Given the description of an element on the screen output the (x, y) to click on. 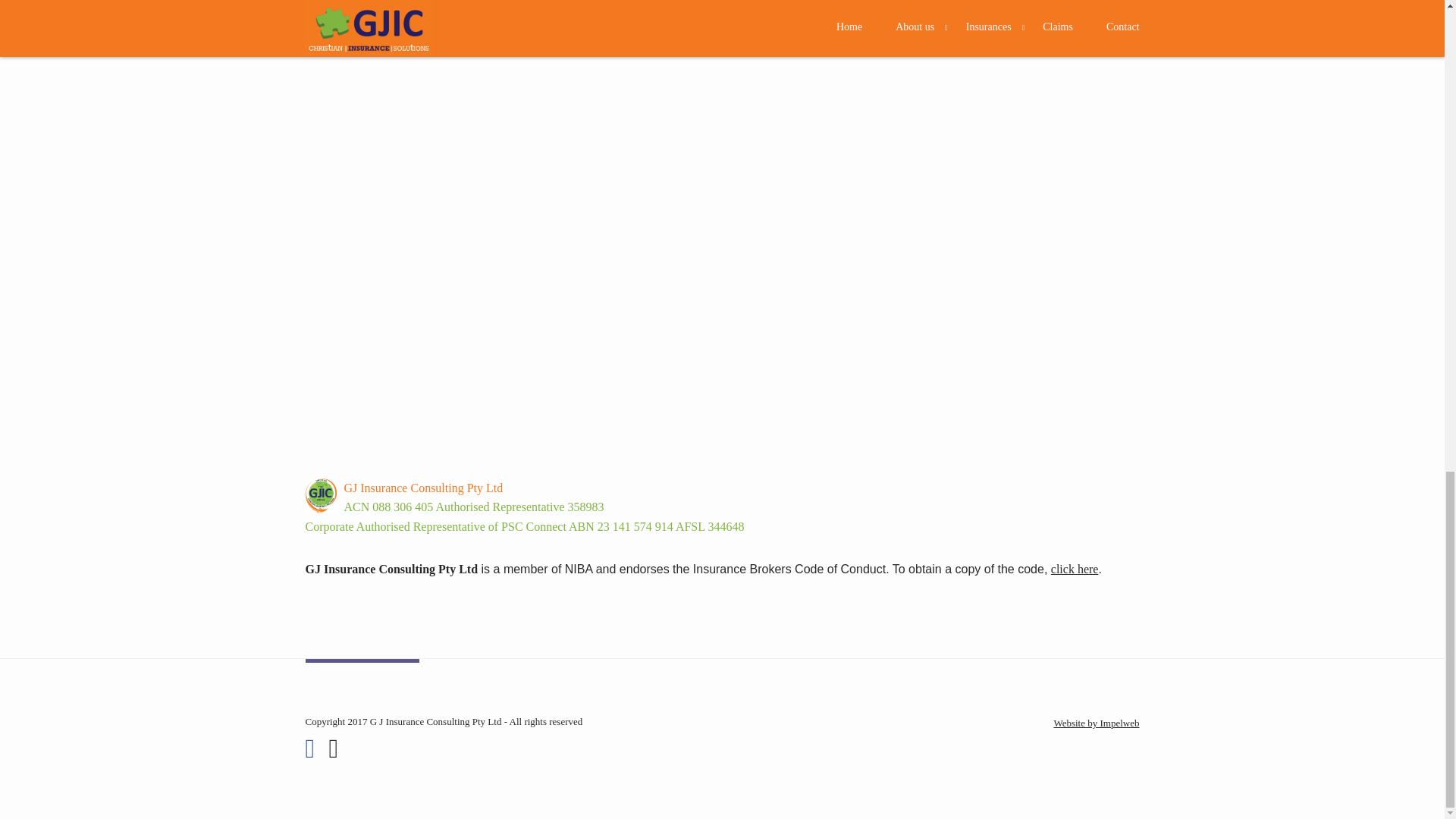
click here (1075, 568)
Website by Impelweb (1095, 722)
